Given the description of an element on the screen output the (x, y) to click on. 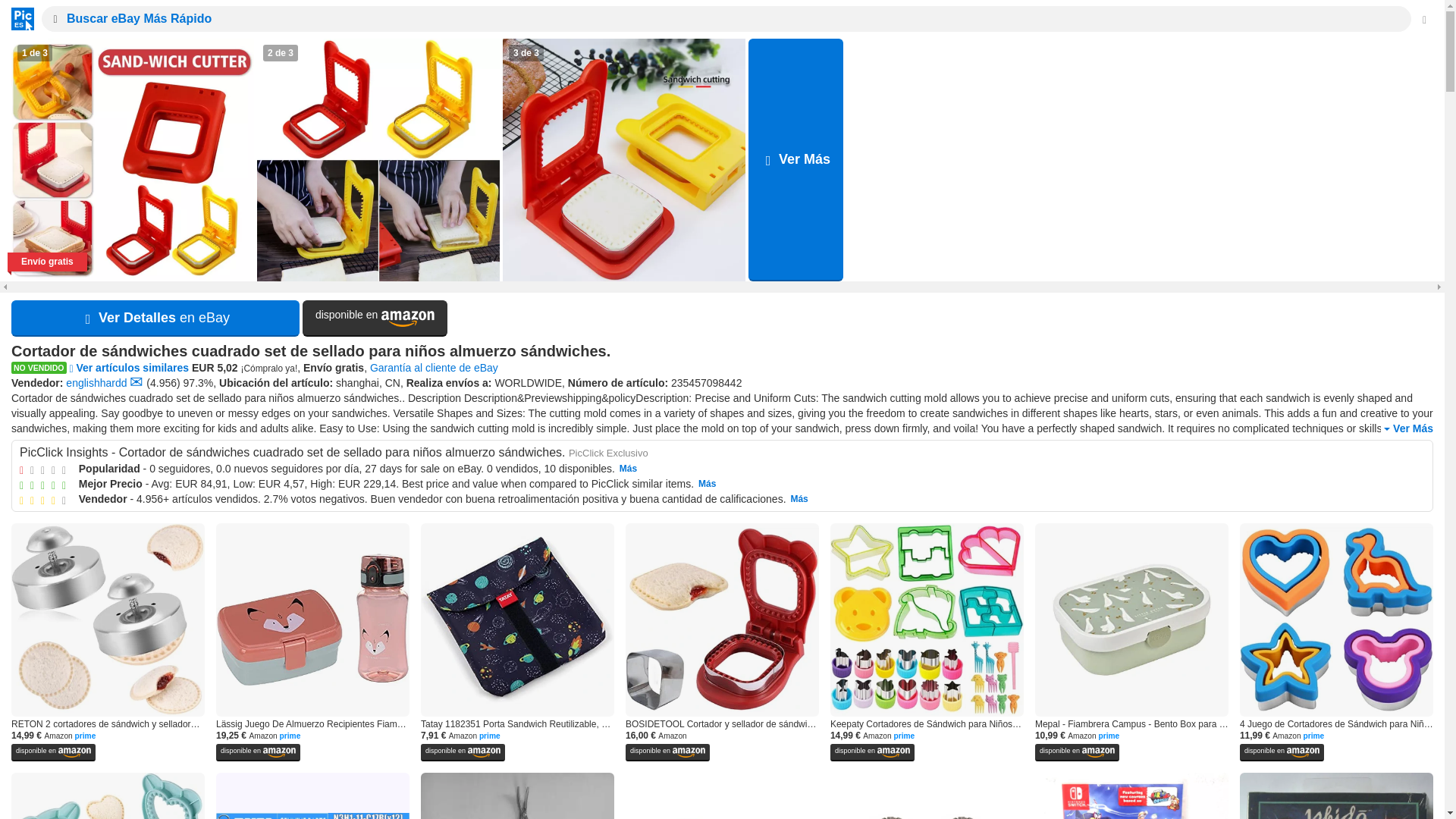
Ver Detalles en eBay (155, 318)
PicClick Exclusivo (608, 452)
eBay Item Number (706, 382)
Search (52, 18)
englishhardd (95, 382)
Contacto Vendedor (135, 381)
2 de 3 (378, 159)
ES (18, 18)
disponible en (374, 318)
3 de 3 (623, 159)
disponible en Amazon (374, 318)
4.956 Positive Ratings (163, 382)
Search (52, 18)
PicClick (18, 18)
